Given the description of an element on the screen output the (x, y) to click on. 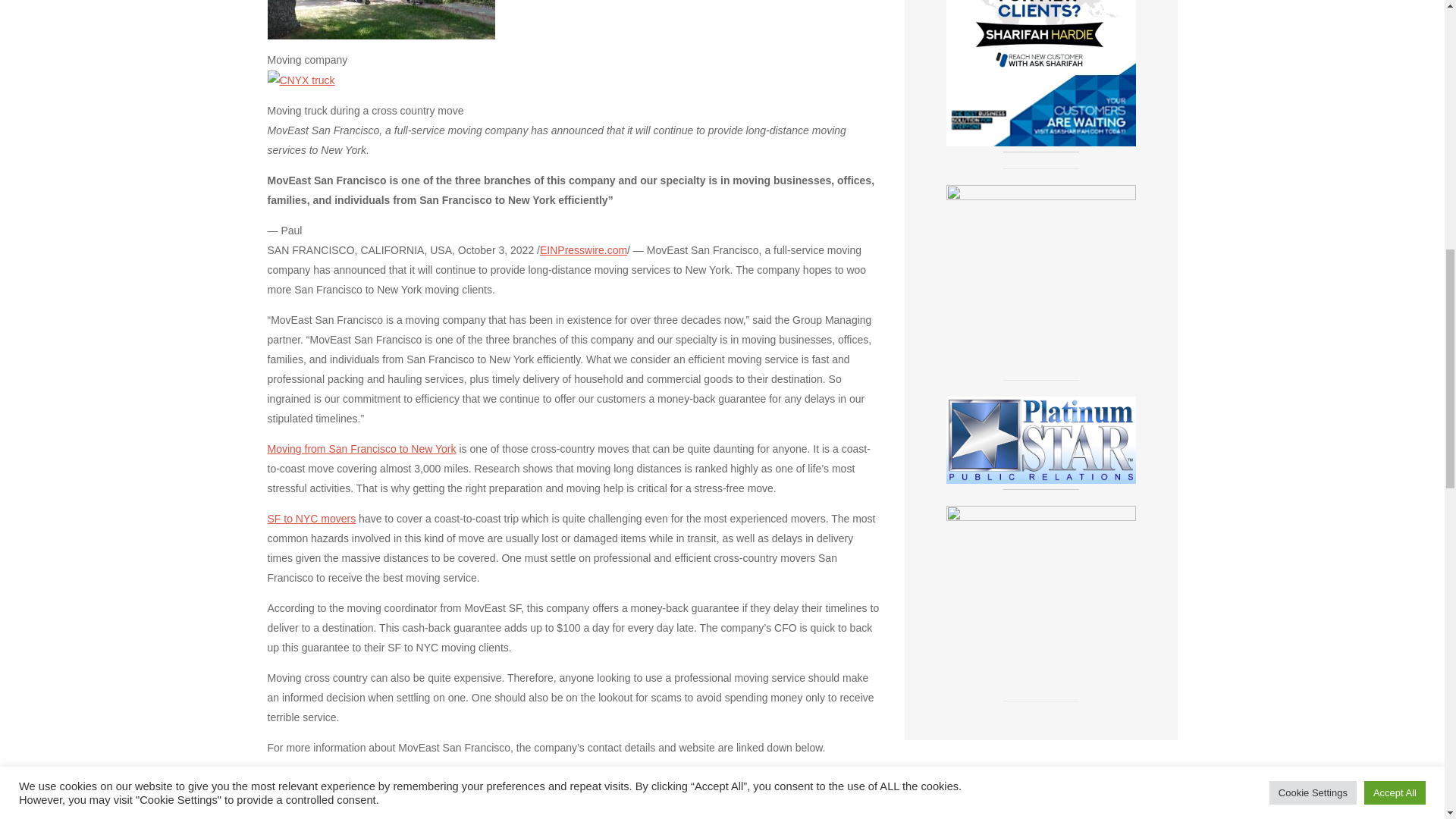
Moving from San Francisco to New York (360, 449)
SF to NYC movers (310, 518)
EINPresswire.com (583, 250)
